Given the description of an element on the screen output the (x, y) to click on. 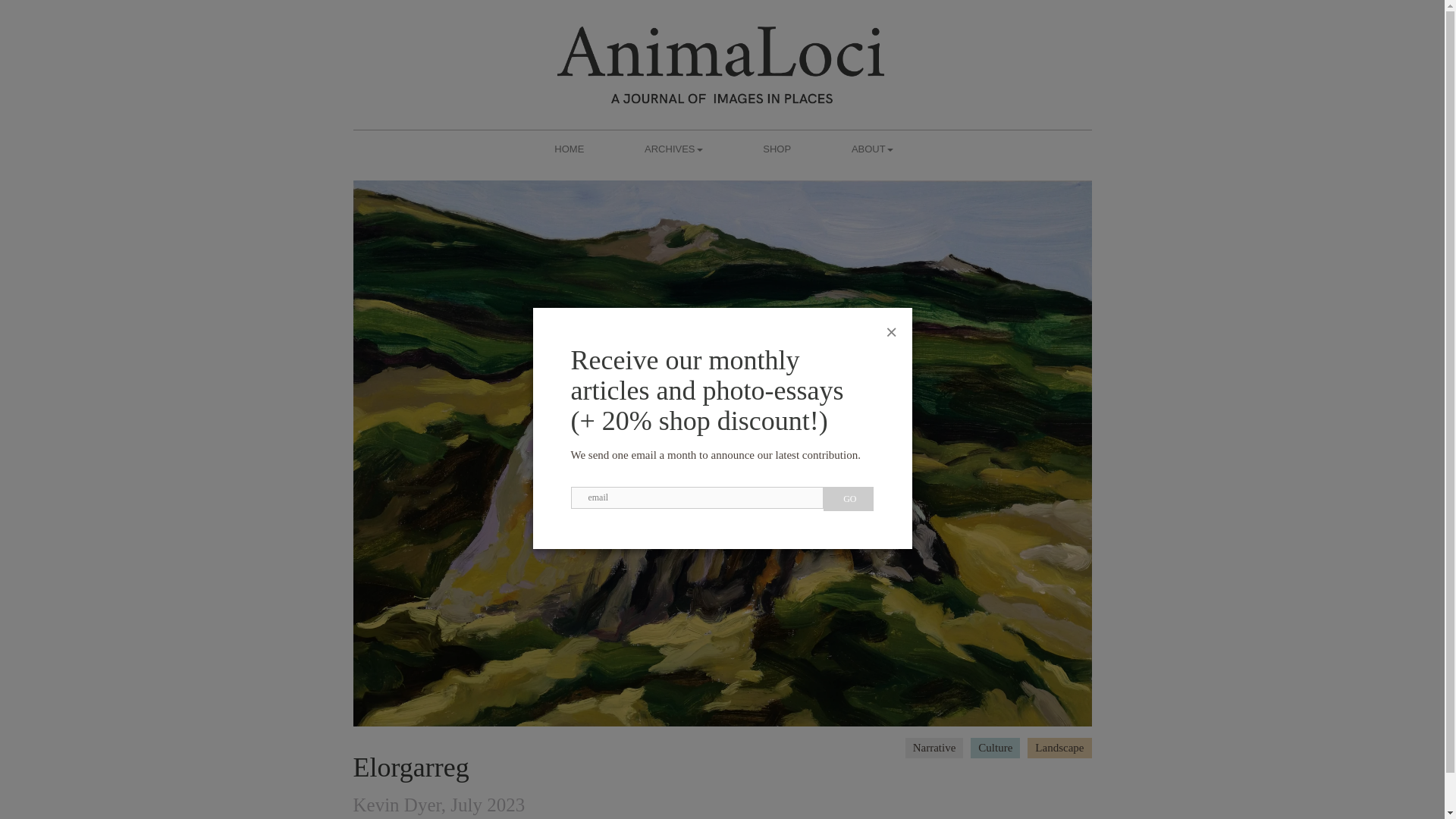
HOME (569, 147)
GO (849, 498)
SHOP (776, 147)
Posts by Kevin Dyer (397, 804)
ARCHIVES (673, 147)
GO (849, 498)
Anima Loci  (721, 71)
Kevin Dyer (397, 804)
ABOUT (872, 147)
